Given the description of an element on the screen output the (x, y) to click on. 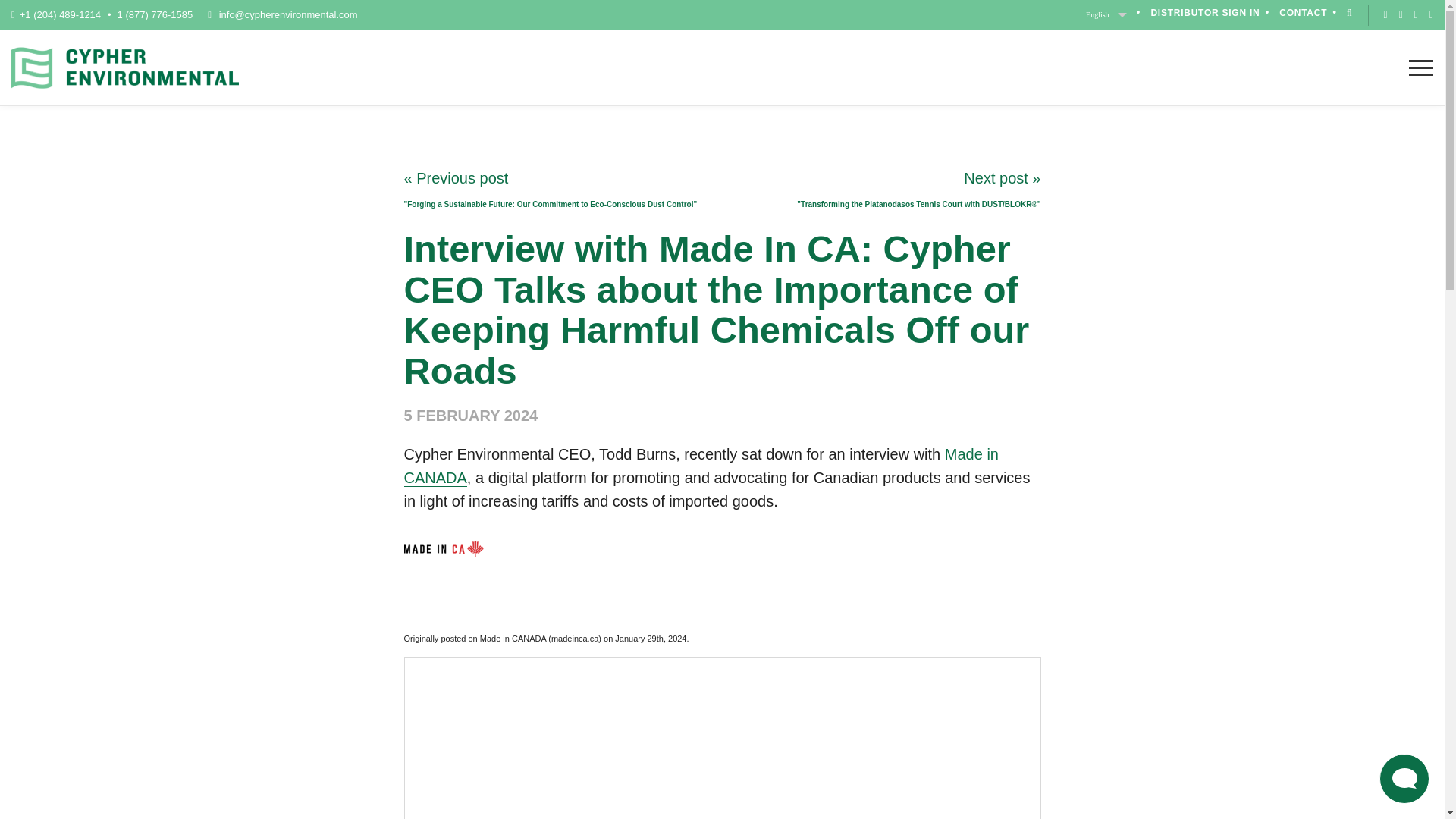
CONTACT (1302, 12)
Search (1330, 409)
Embedded post (722, 740)
DISTRIBUTOR SIGN IN (1204, 12)
